Given the description of an element on the screen output the (x, y) to click on. 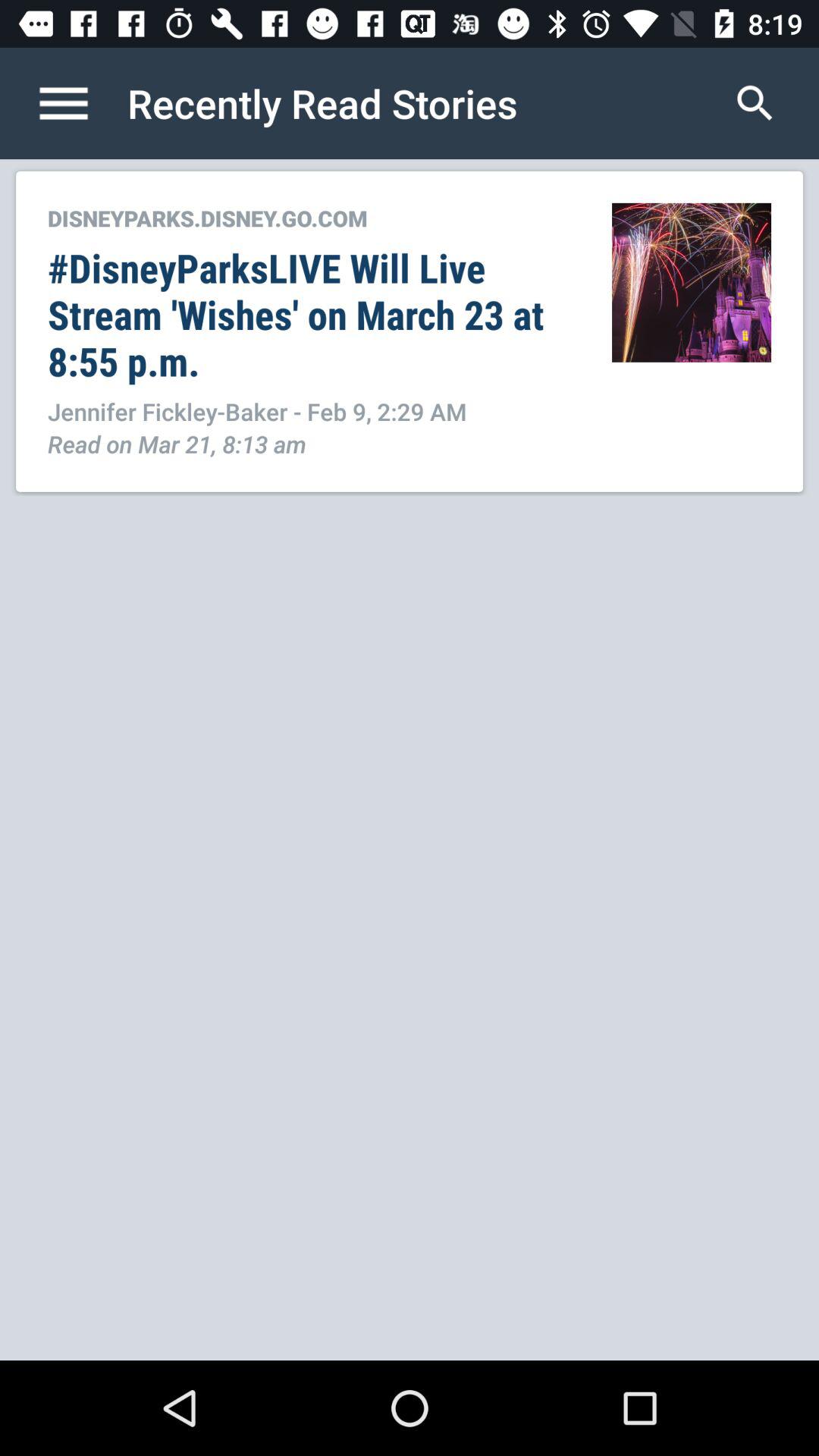
open menu (79, 103)
